Given the description of an element on the screen output the (x, y) to click on. 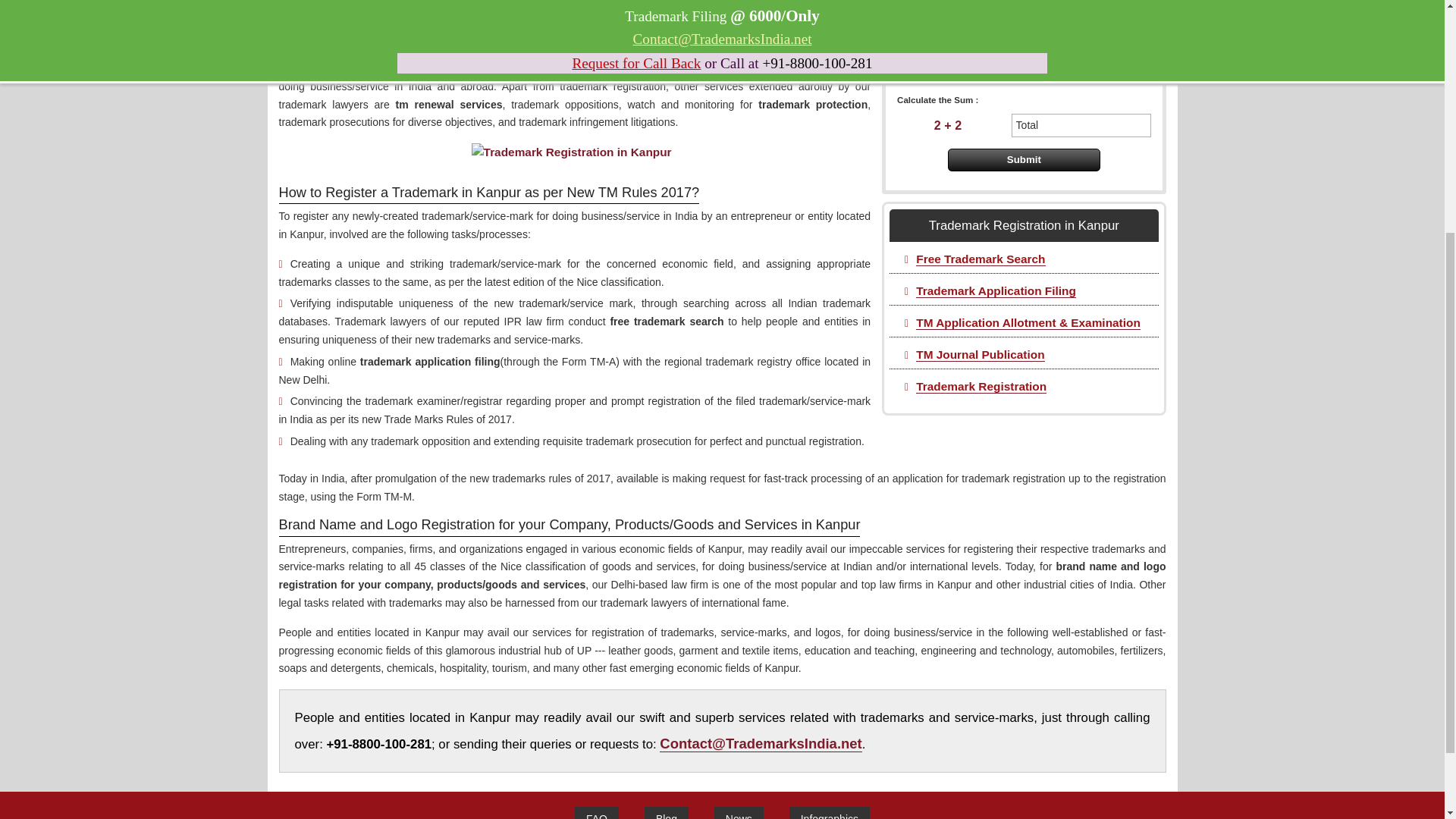
Trademark Registration (980, 386)
Submit (1023, 159)
Total (1081, 125)
Free Trademark Search (980, 259)
TM Journal Publication (979, 354)
Trademark Application Filing (995, 291)
City (1023, 4)
